Given the description of an element on the screen output the (x, y) to click on. 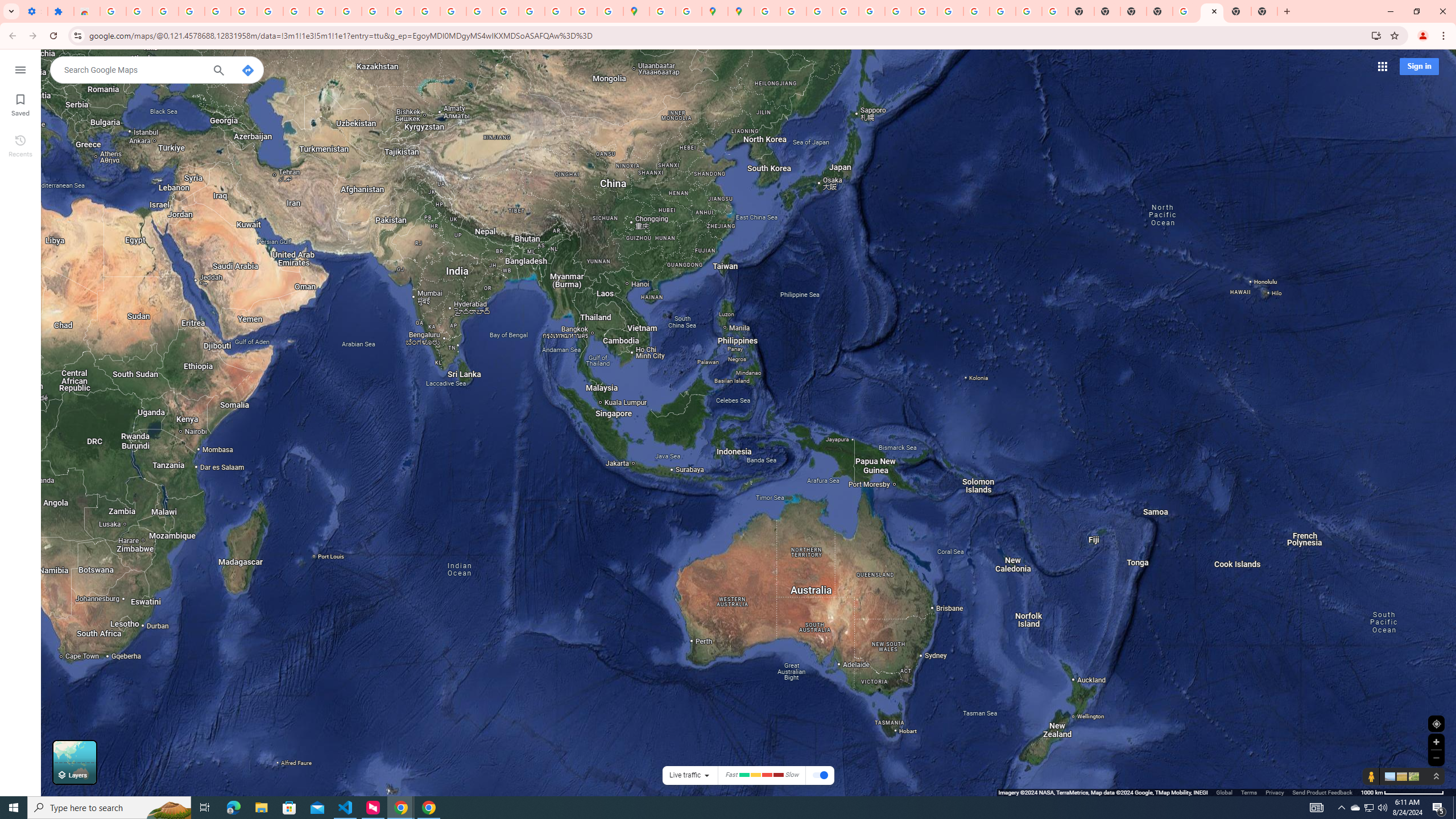
Sign in - Google Accounts (217, 11)
Show Your Location (1436, 723)
Settings - On startup (34, 11)
Privacy Help Center - Policies Help (453, 11)
Sign in - Google Accounts (663, 11)
https://scholar.google.com/ (400, 11)
Recents (20, 145)
Live traffic (684, 774)
New Tab (1238, 11)
